Given the description of an element on the screen output the (x, y) to click on. 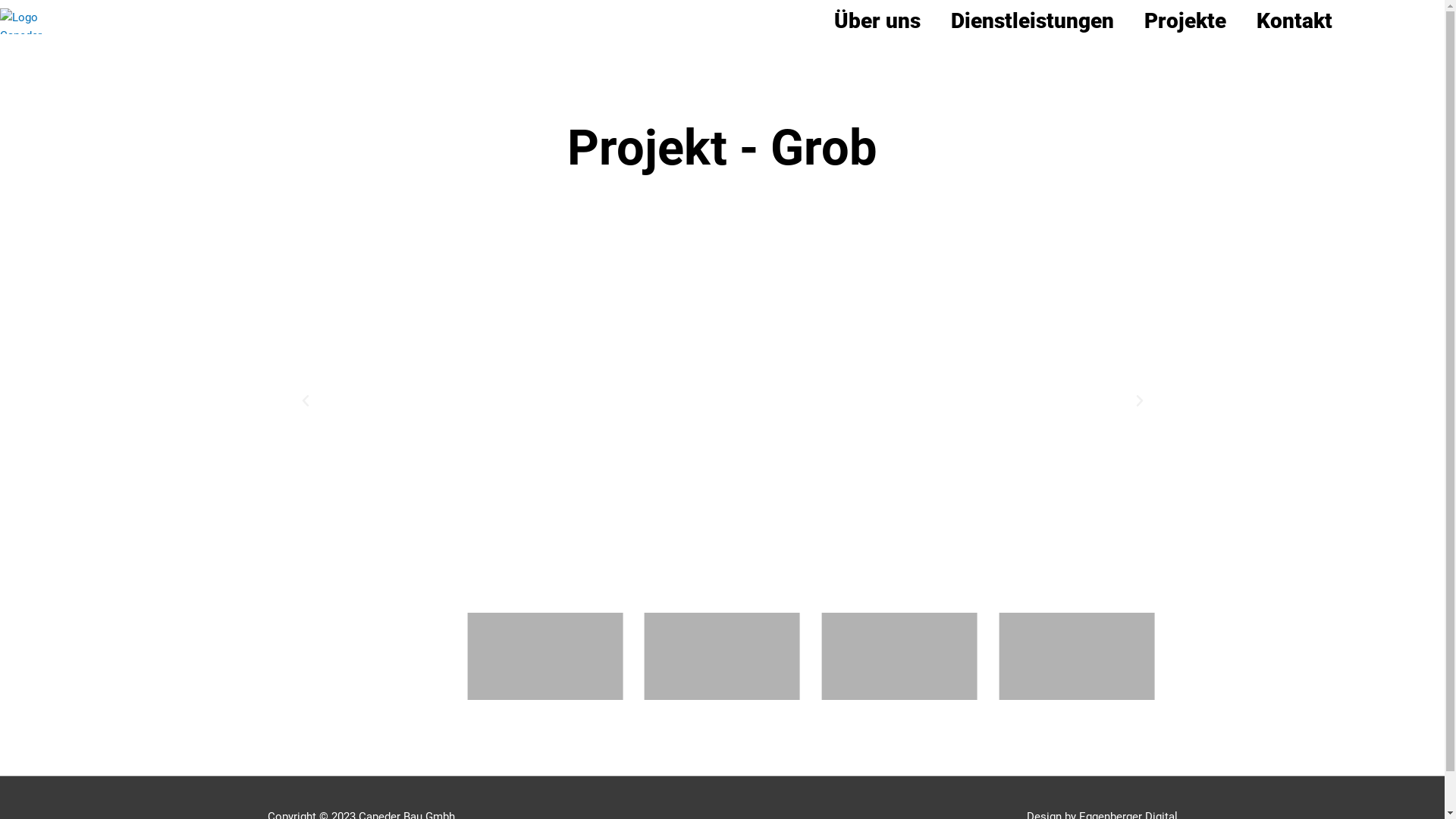
Kontakt Element type: text (1294, 20)
Projekte Element type: text (1185, 20)
Dienstleistungen Element type: text (1032, 20)
